Given the description of an element on the screen output the (x, y) to click on. 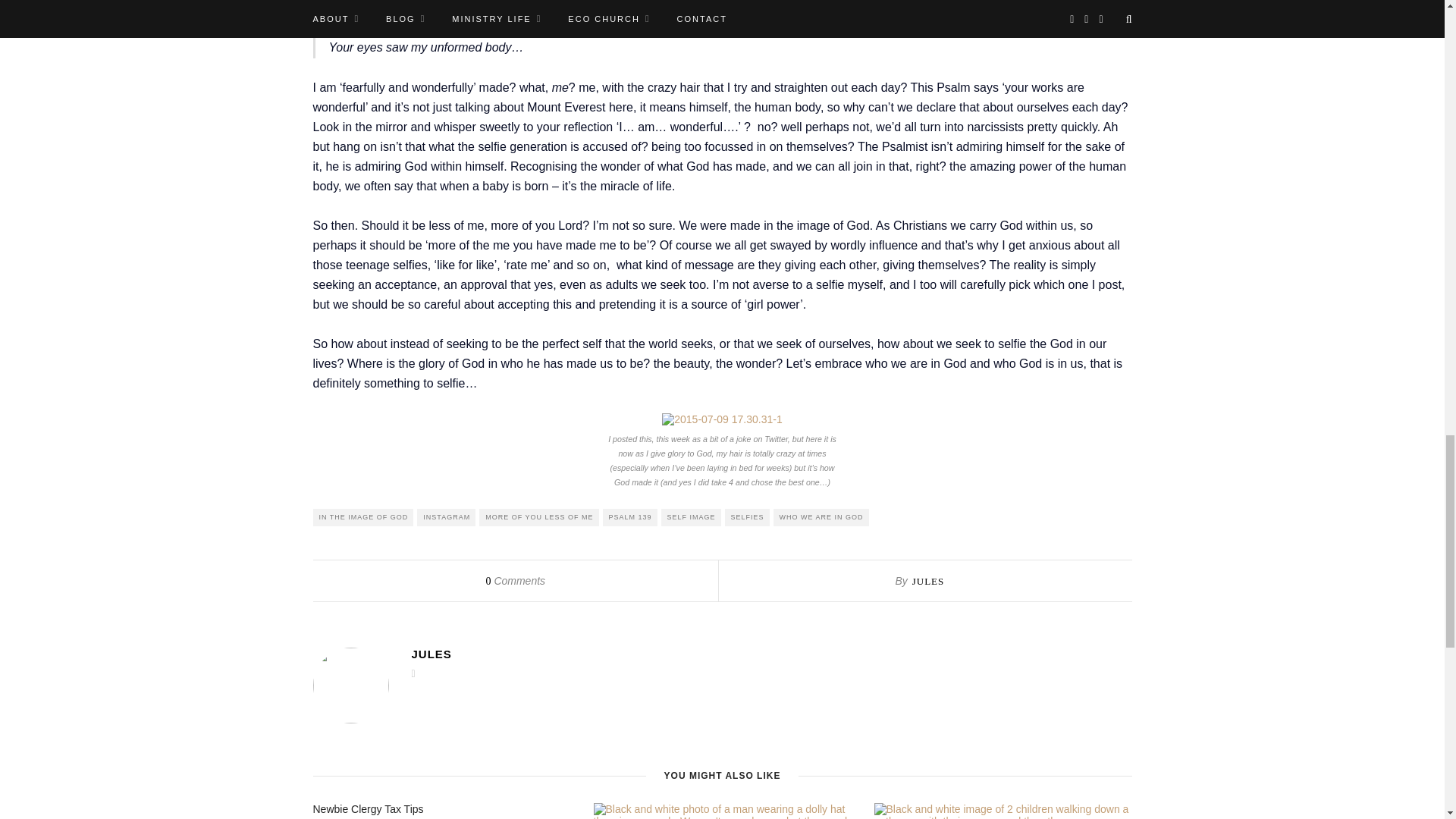
JULES (770, 653)
INSTAGRAM (446, 517)
SELFIES (747, 517)
JULES (928, 581)
MORE OF YOU LESS OF ME (538, 517)
WHO WE ARE IN GOD (821, 517)
Posts by Jules (928, 581)
SELF IMAGE (690, 517)
Posts by Jules (770, 653)
0 Comments (514, 580)
